Given the description of an element on the screen output the (x, y) to click on. 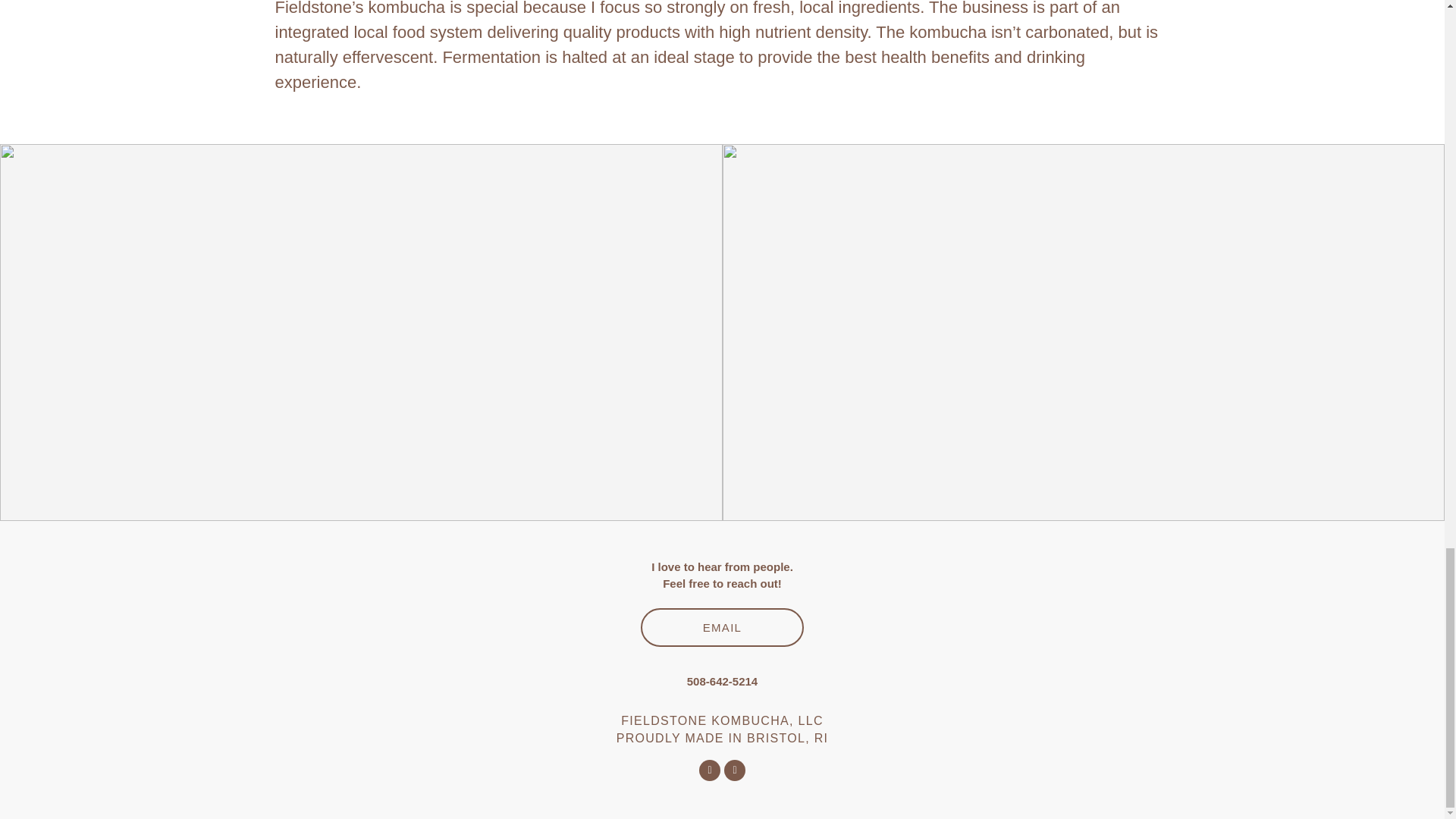
EMAIL (722, 627)
